Given the description of an element on the screen output the (x, y) to click on. 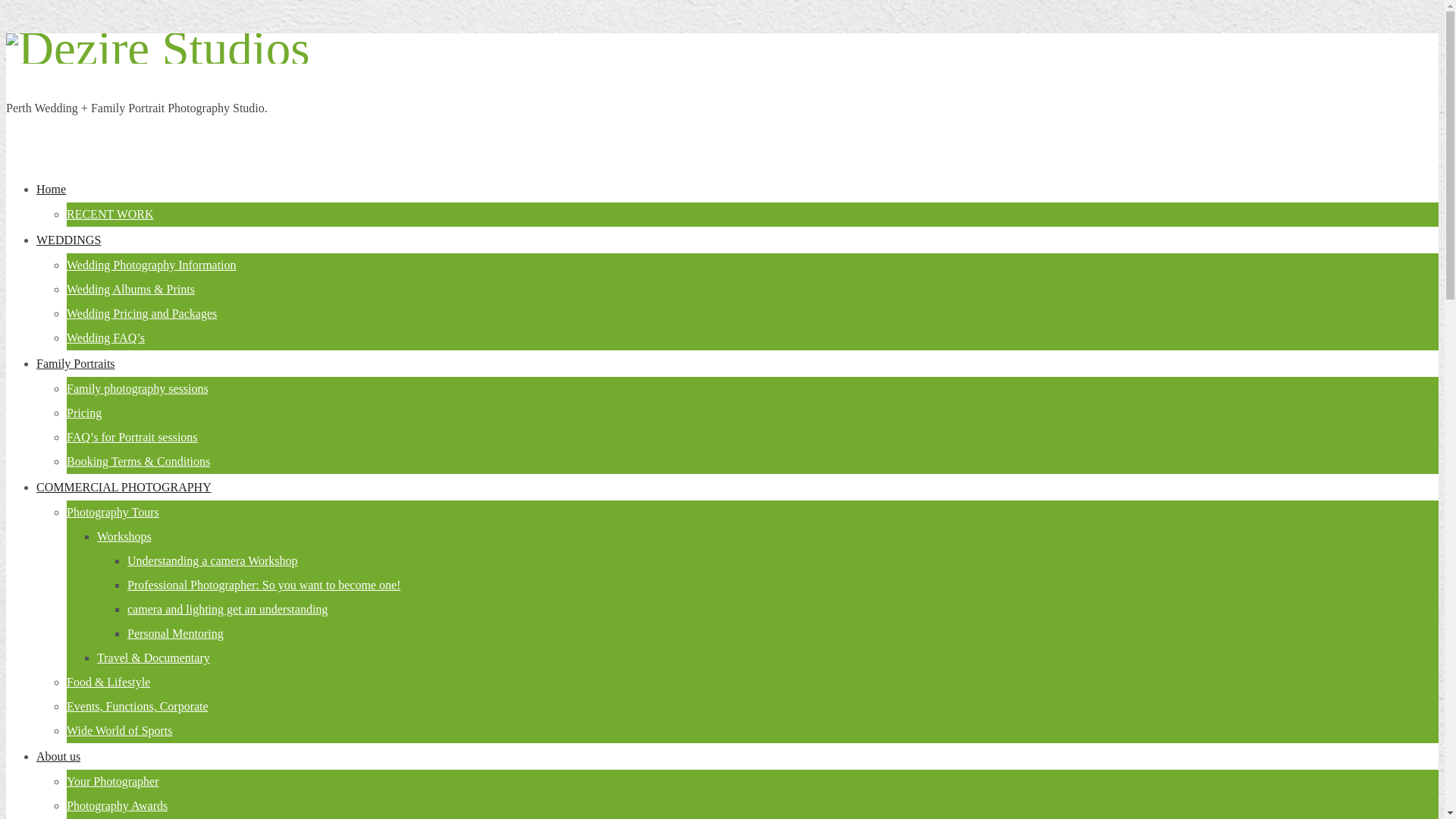
COMMERCIAL PHOTOGRAPHY Element type: text (123, 486)
Wide World of Sports Element type: text (119, 730)
Professional Photographer: So you want to become one! Element type: text (263, 584)
Wedding Pricing and Packages Element type: text (141, 313)
Understanding a camera Workshop Element type: text (212, 560)
Travel & Documentary Element type: text (153, 657)
Food & Lifestyle Element type: text (108, 681)
Perth Wedding + Family Portrait Photography Studio.  Element type: hover (158, 48)
WEDDINGS Element type: text (68, 239)
camera and lighting get an understanding Element type: text (227, 608)
Workshops Element type: text (124, 536)
Wedding Albums & Prints Element type: text (130, 288)
Photography Awards Element type: text (116, 805)
Events, Functions, Corporate Element type: text (137, 705)
Your Photographer Element type: text (112, 781)
Wedding Photography Information Element type: text (151, 264)
Pricing Element type: text (83, 412)
Home Element type: text (50, 188)
Photography Tours Element type: text (112, 511)
Family photography sessions Element type: text (137, 388)
Family Portraits Element type: text (75, 363)
Personal Mentoring Element type: text (175, 633)
Booking Terms & Conditions Element type: text (138, 461)
RECENT WORK Element type: text (109, 213)
About us Element type: text (58, 755)
